Given the description of an element on the screen output the (x, y) to click on. 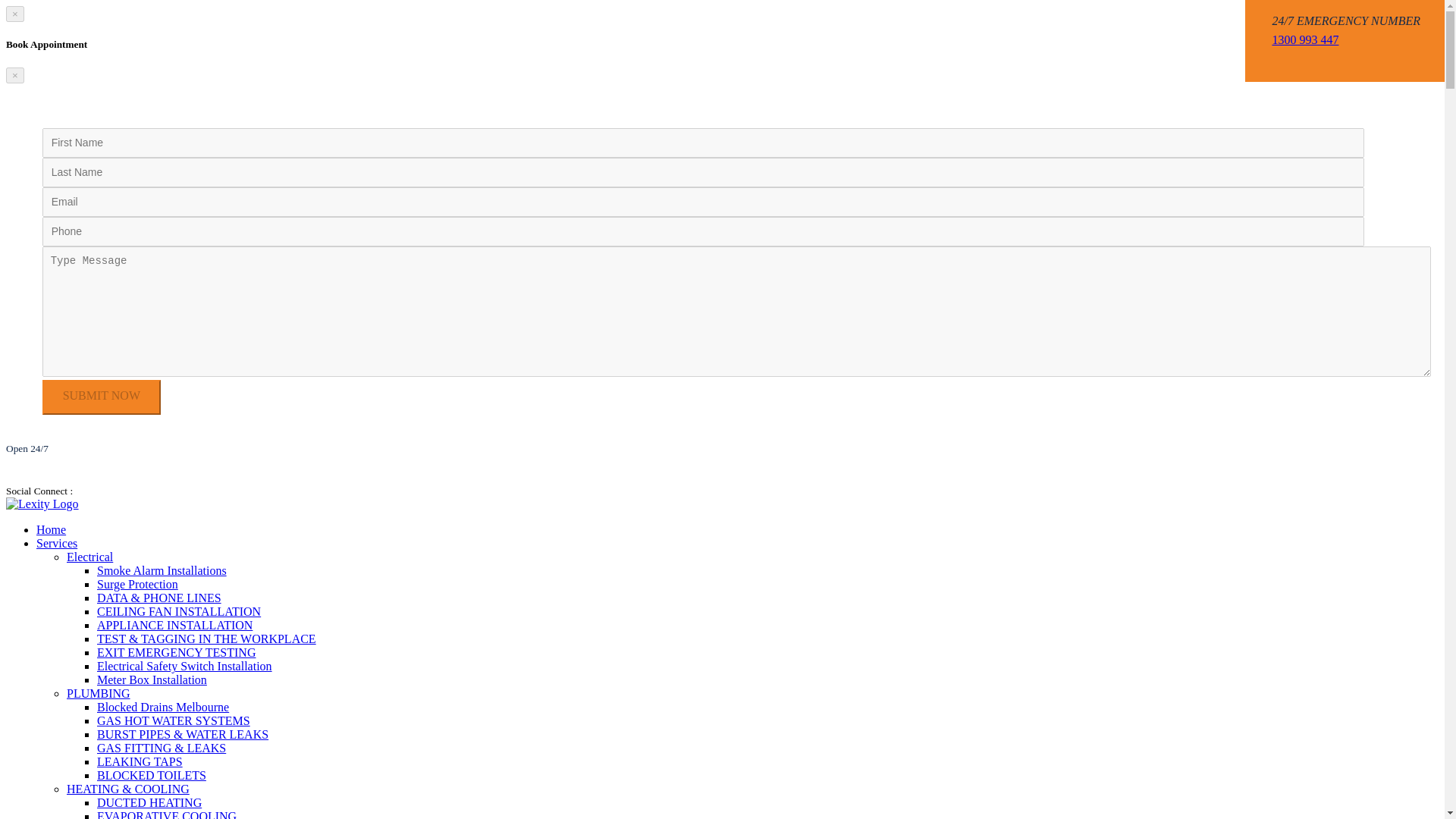
Smoke Alarm Installations (162, 570)
SUBMIT NOW (101, 397)
1300 993 447 (1304, 39)
Meter Box Installation (151, 679)
DUCTED HEATING (149, 802)
BLOCKED TOILETS (151, 775)
EVAPORATIVE COOLING (166, 814)
PLUMBING (98, 693)
LEAKING TAPS (140, 761)
Electrical Safety Switch Installation (184, 666)
Electrical (89, 556)
Blocked Drains Melbourne (162, 707)
CEILING FAN INSTALLATION (178, 611)
Services (56, 543)
EXIT EMERGENCY TESTING (176, 652)
